Given the description of an element on the screen output the (x, y) to click on. 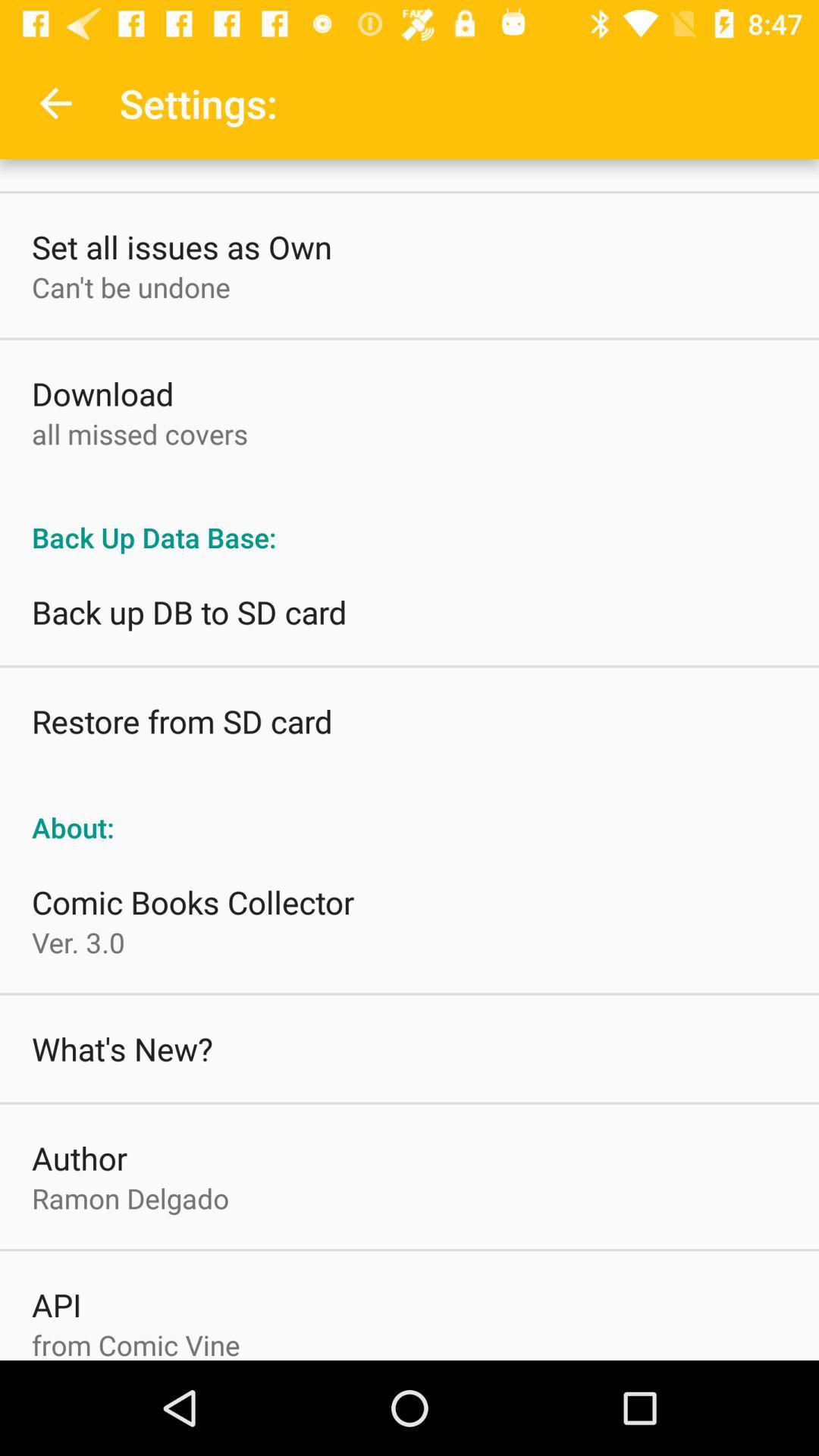
flip until the all missed covers icon (139, 433)
